Given the description of an element on the screen output the (x, y) to click on. 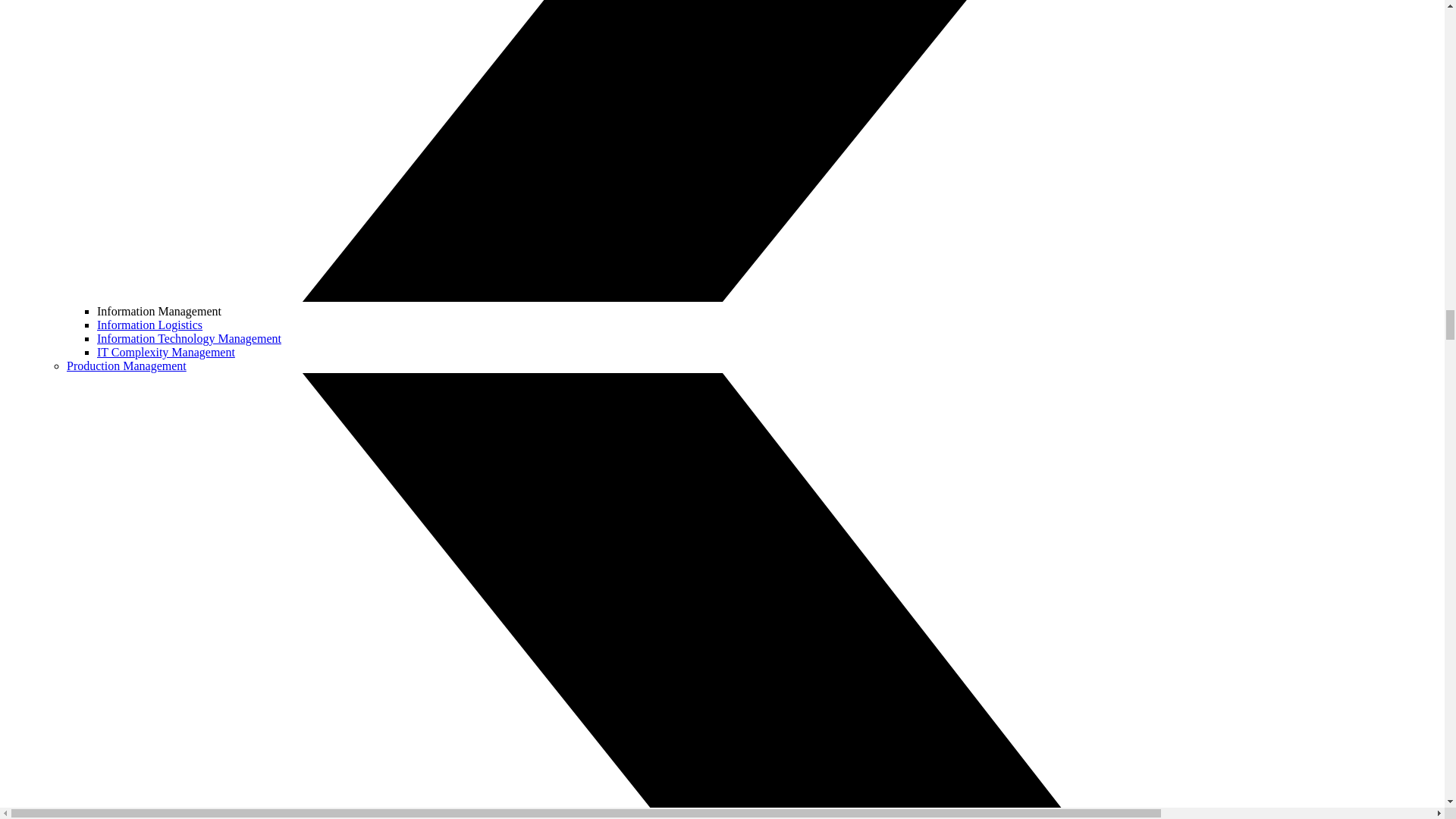
Information Logistics (149, 324)
Information Technology Management (189, 338)
IT Complexity Management (165, 351)
